Given the description of an element on the screen output the (x, y) to click on. 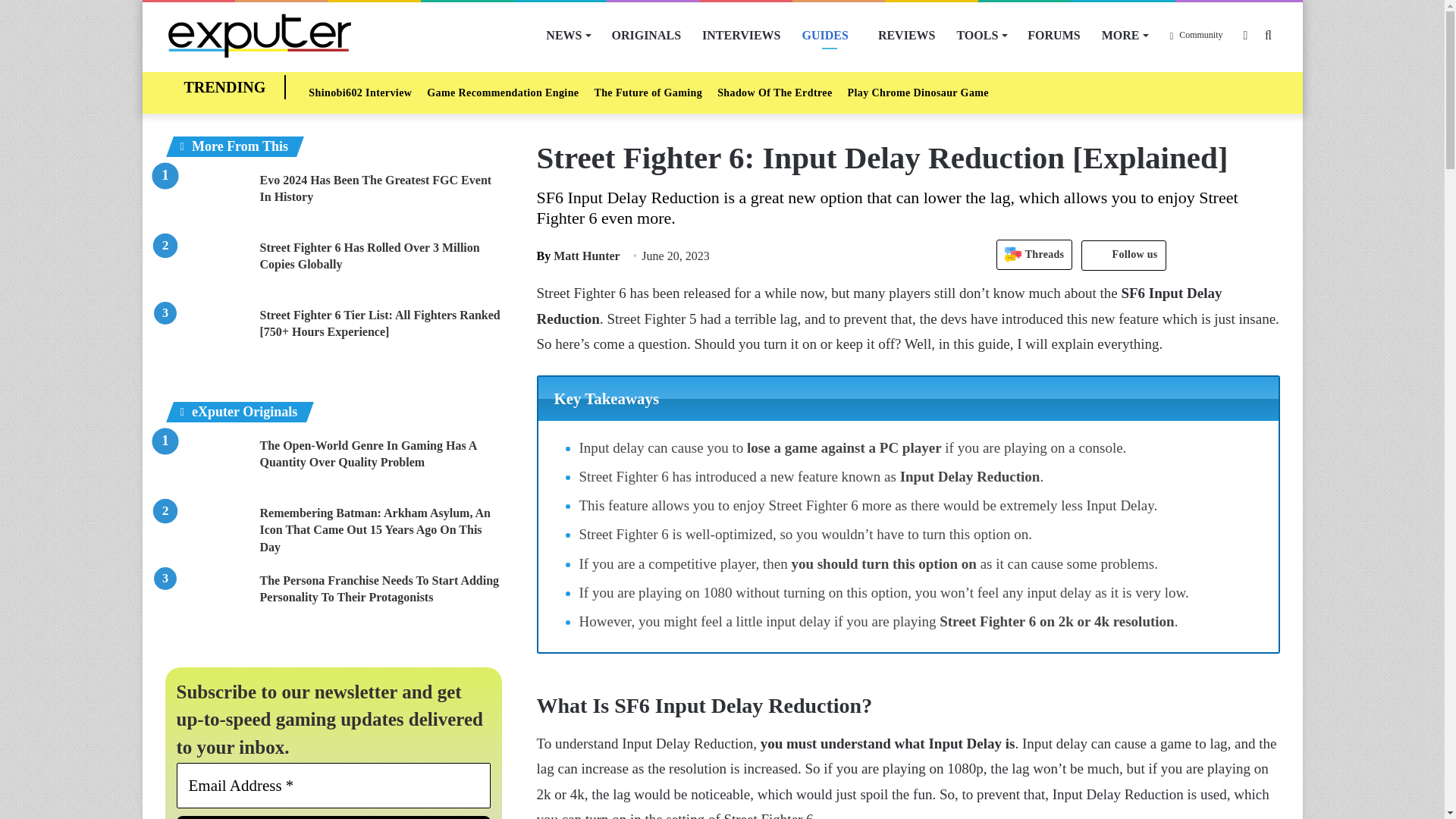
Matt Hunter (578, 255)
INTERVIEWS (740, 35)
TOOLS (980, 35)
NEWS (567, 35)
GUIDES (829, 35)
REVIEWS (906, 35)
ORIGINALS (645, 35)
MORE (1124, 35)
eXputer.com (259, 34)
Email Address (333, 785)
